Given the description of an element on the screen output the (x, y) to click on. 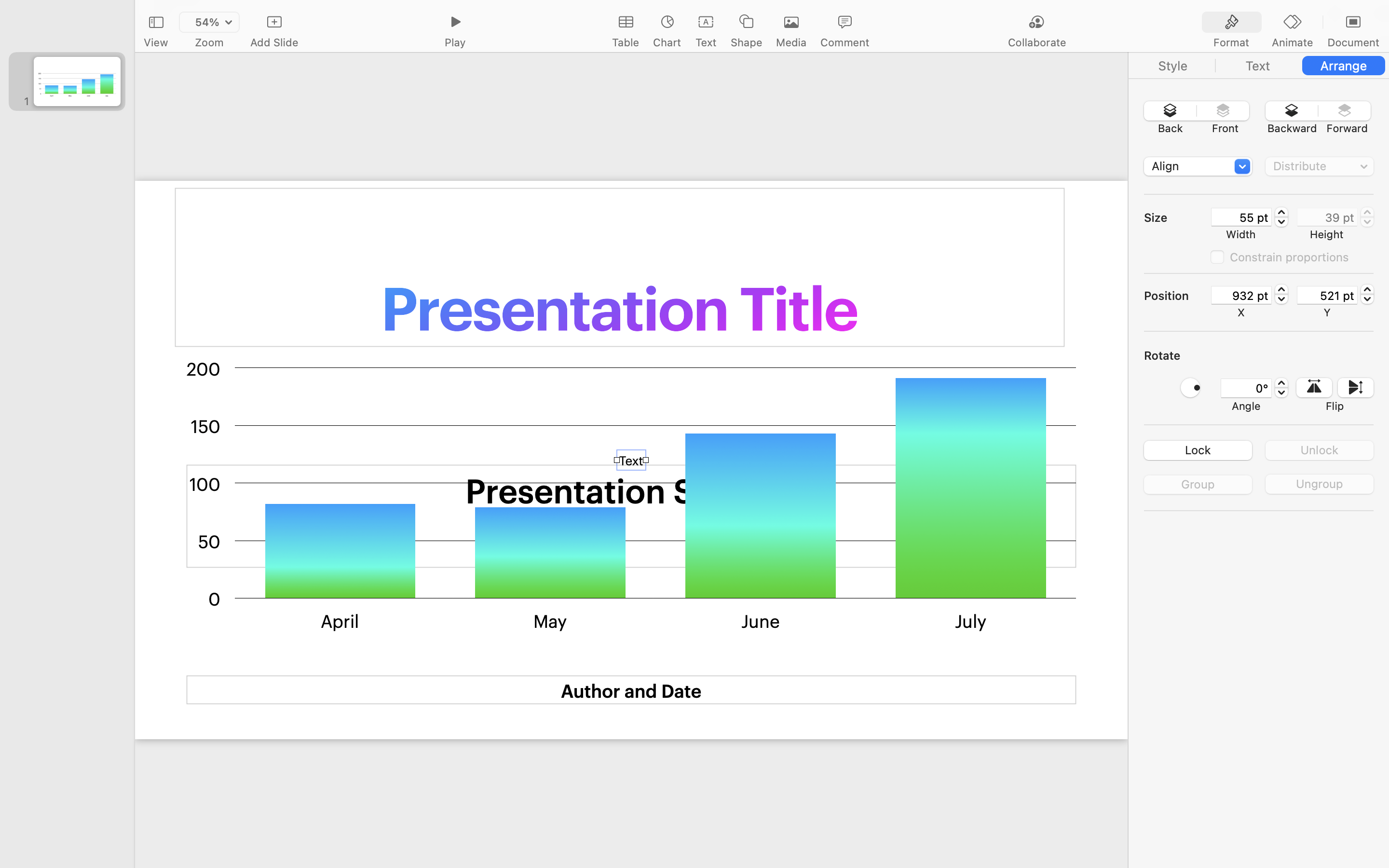
Untitled Element type: AXStaticText (735, 12)
Height Element type: AXStaticText (1326, 234)
932.436 Element type: AXIncrementor (1281, 293)
Media Element type: AXStaticText (790, 42)
521 pt Element type: AXTextField (1327, 294)
